Given the description of an element on the screen output the (x, y) to click on. 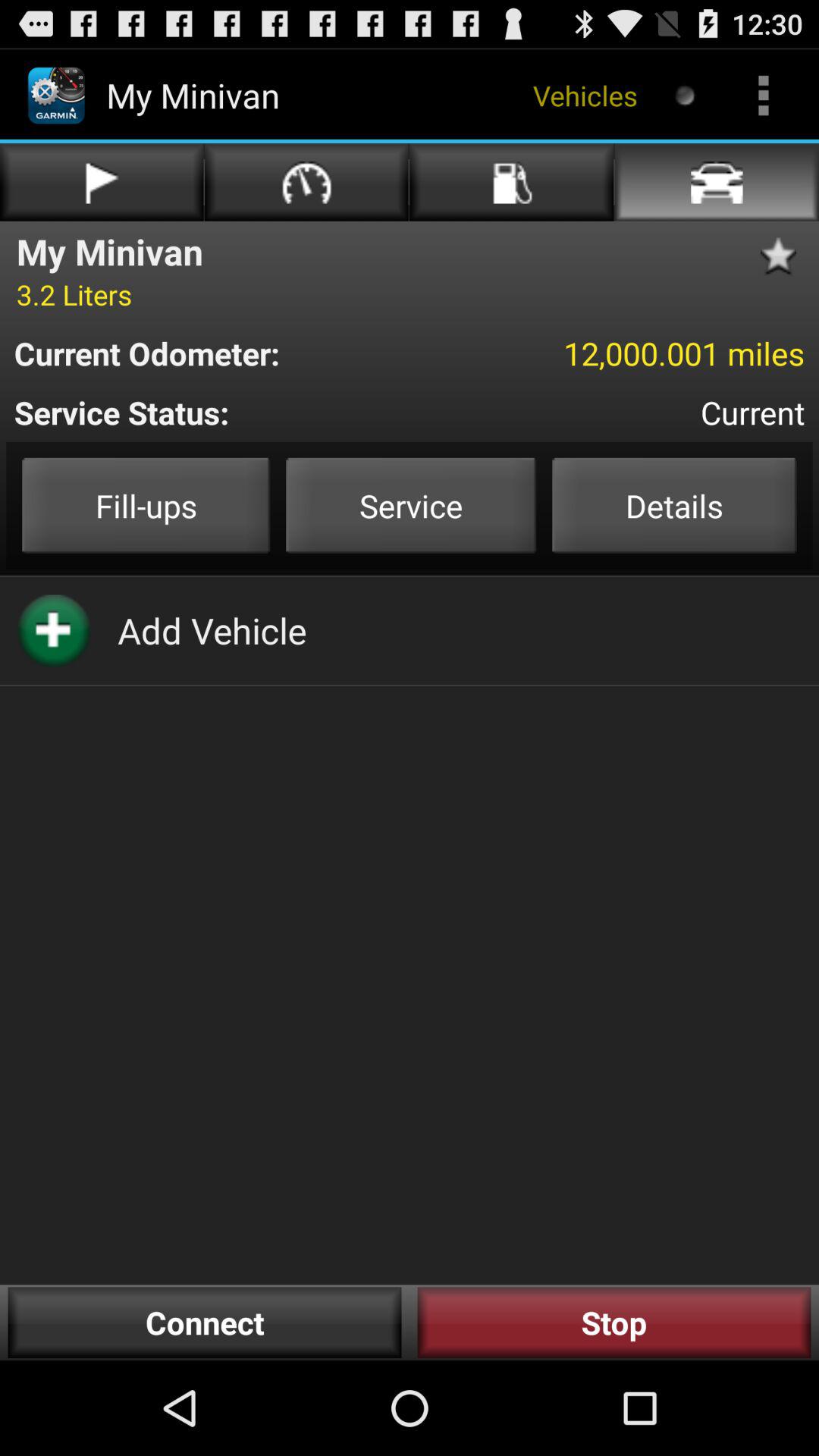
click the stop item (614, 1322)
